Given the description of an element on the screen output the (x, y) to click on. 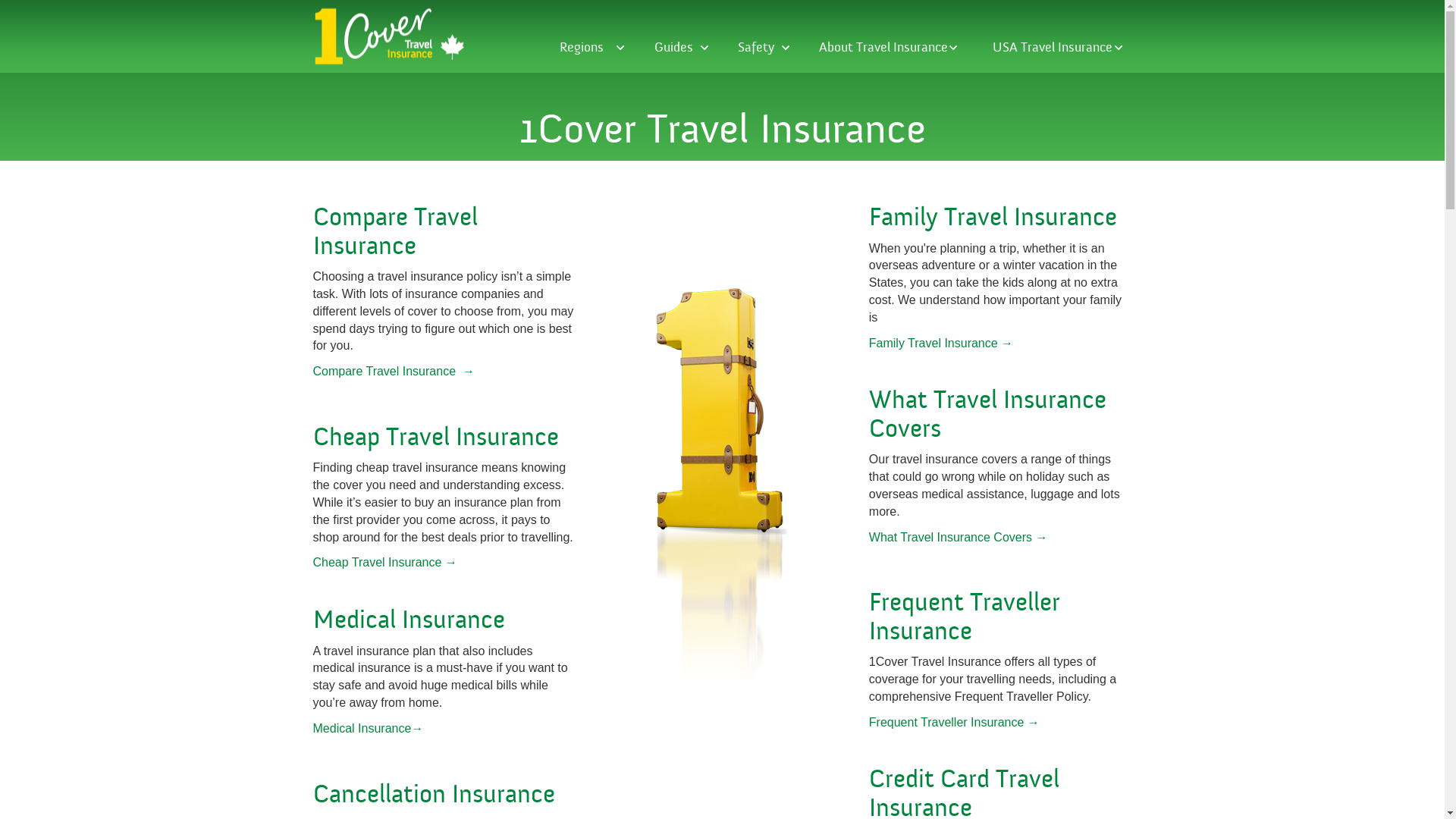
Medical Insurance Element type: text (408, 619)
What Travel Insurance Covers Element type: text (987, 413)
About Travel Insurance Element type: text (888, 54)
F Element type: text (875, 602)
Cancellation Insurance Element type: text (433, 794)
Family Travel Insurance Element type: text (993, 217)
Regions   Element type: text (590, 54)
Cheap Travel Insurance Element type: text (435, 436)
  Element type: text (313, 168)
  Element type: text (349, 561)
USA Travel Insurance Element type: text (1058, 54)
requent Traveller Insurance Element type: text (964, 616)
Guides Element type: text (679, 54)
ompare Travel Insurance Element type: text (394, 231)
Cheap Element type: text (330, 561)
Safety Element type: text (761, 54)
C Element type: text (320, 217)
